Given the description of an element on the screen output the (x, y) to click on. 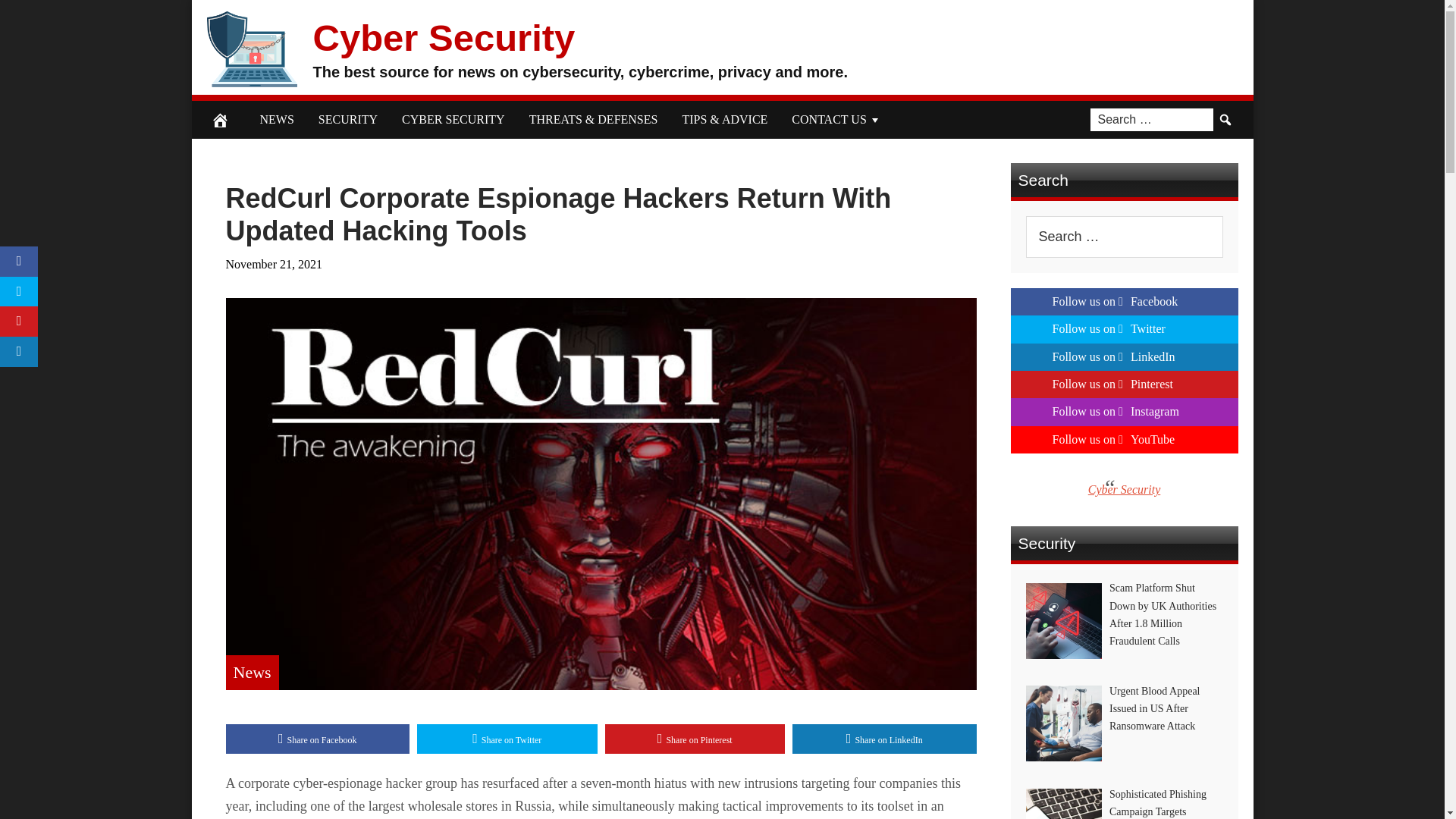
Share on Pinterest (695, 738)
NEWS (276, 119)
News (251, 671)
Cyber Security (444, 36)
Share on Facebook (317, 738)
CONTACT US (835, 119)
SECURITY (347, 119)
News (251, 671)
Share on LinkedIn (884, 738)
Share on Twitter (506, 738)
CYBER SECURITY (453, 119)
